Given the description of an element on the screen output the (x, y) to click on. 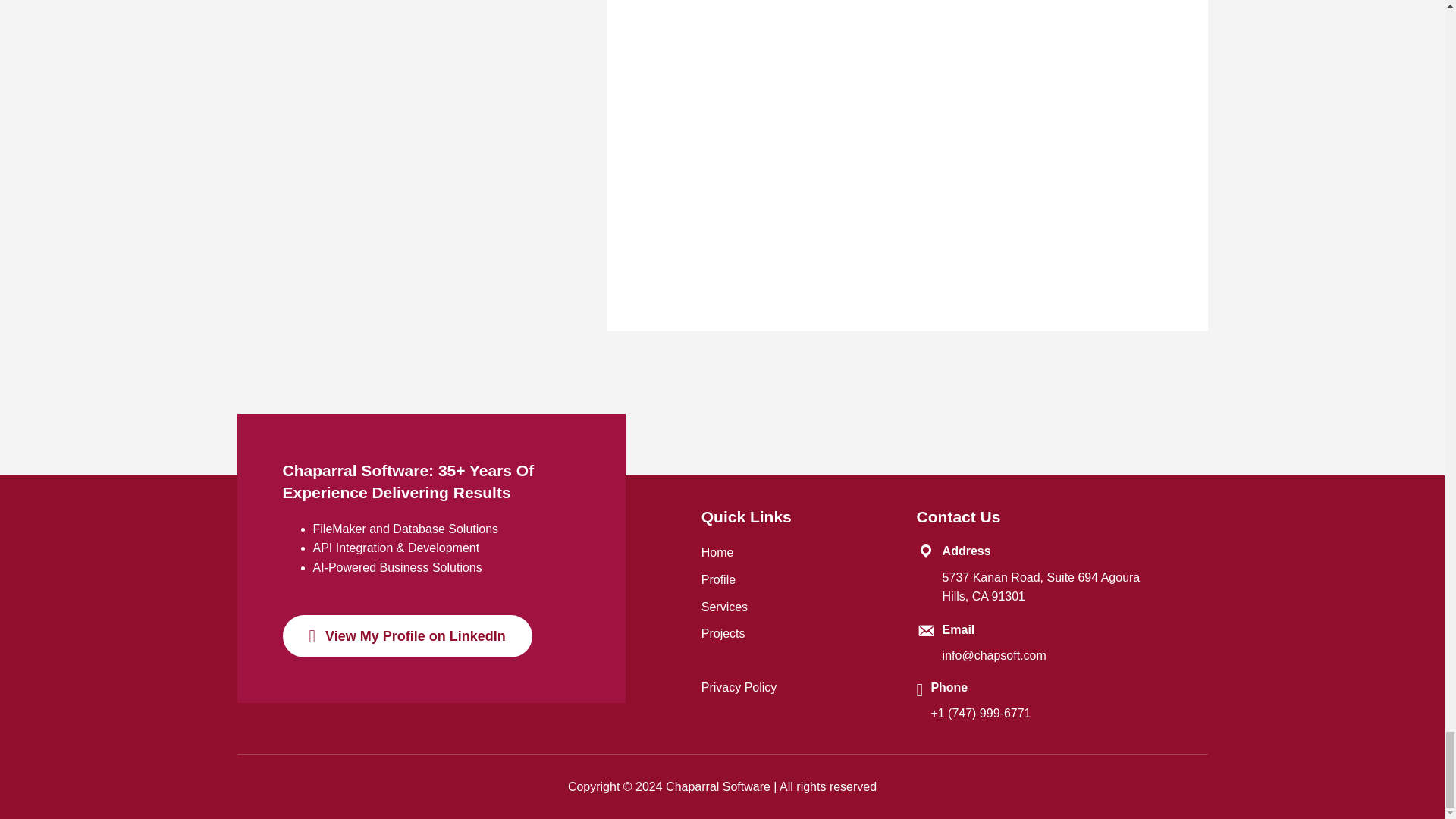
Schedule a Consultation (767, 246)
View My Profile on LinkedIn (406, 636)
Profile (718, 579)
Home (717, 552)
